Given the description of an element on the screen output the (x, y) to click on. 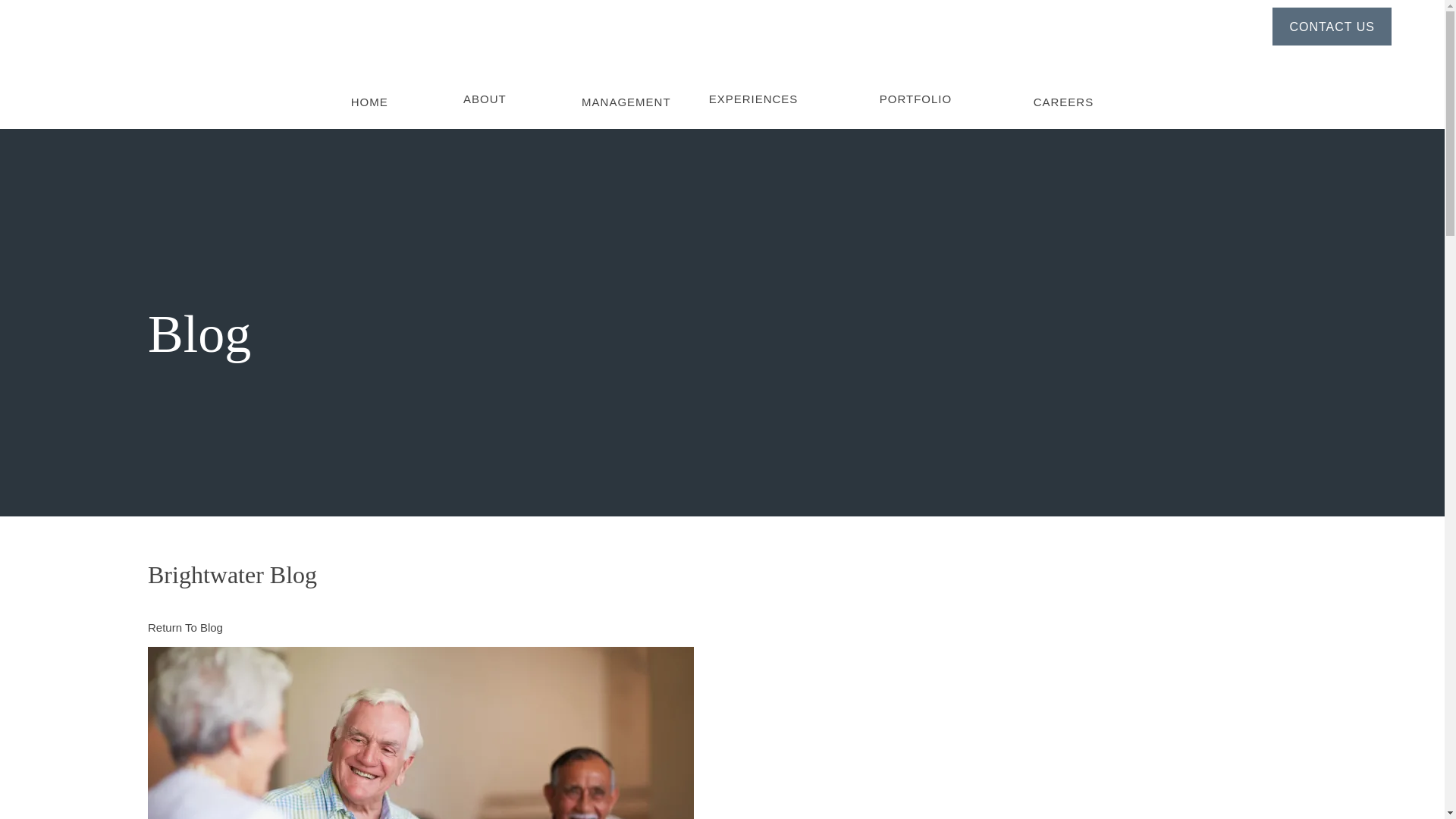
HOME (369, 90)
Return To Blog (185, 626)
CONTACT US (1331, 26)
ABOUT (484, 87)
CAREERS (1063, 90)
PORTFOLIO (914, 87)
EXPERIENCES (753, 87)
MANAGEMENT (626, 90)
